Given the description of an element on the screen output the (x, y) to click on. 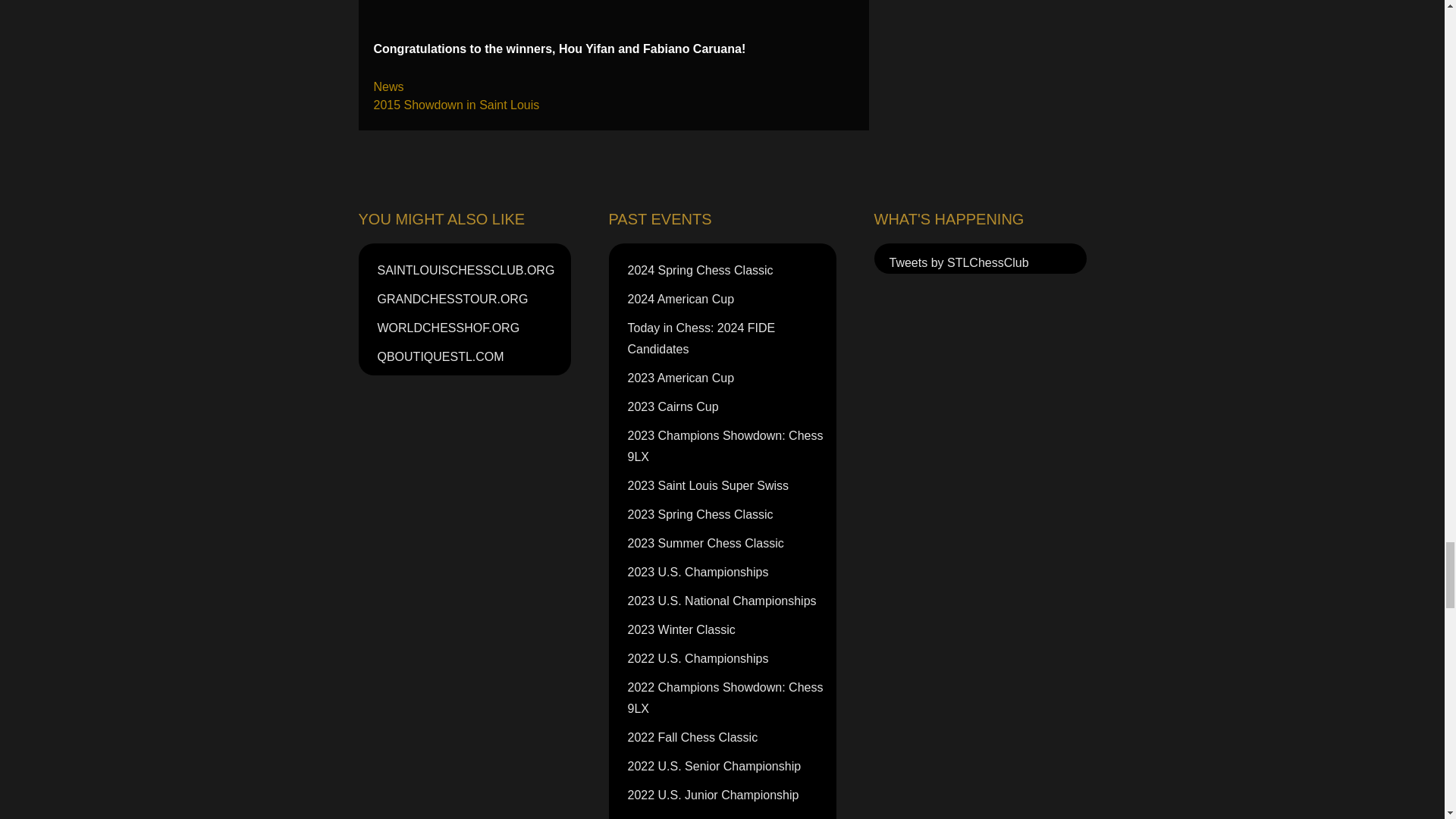
2015 Showdown in Saint Louis (455, 104)
GRANDCHESSTOUR.ORG (471, 299)
2024 American Cup (729, 299)
Today in Chess: 2024 FIDE Candidates (729, 338)
WORLDCHESSHOF.ORG (471, 328)
2023 Champions Showdown: Chess 9LX (729, 446)
2024 Spring Chess Classic (729, 270)
QBOUTIQUESTL.COM (471, 357)
News (387, 86)
2023 American Cup (729, 378)
